Given the description of an element on the screen output the (x, y) to click on. 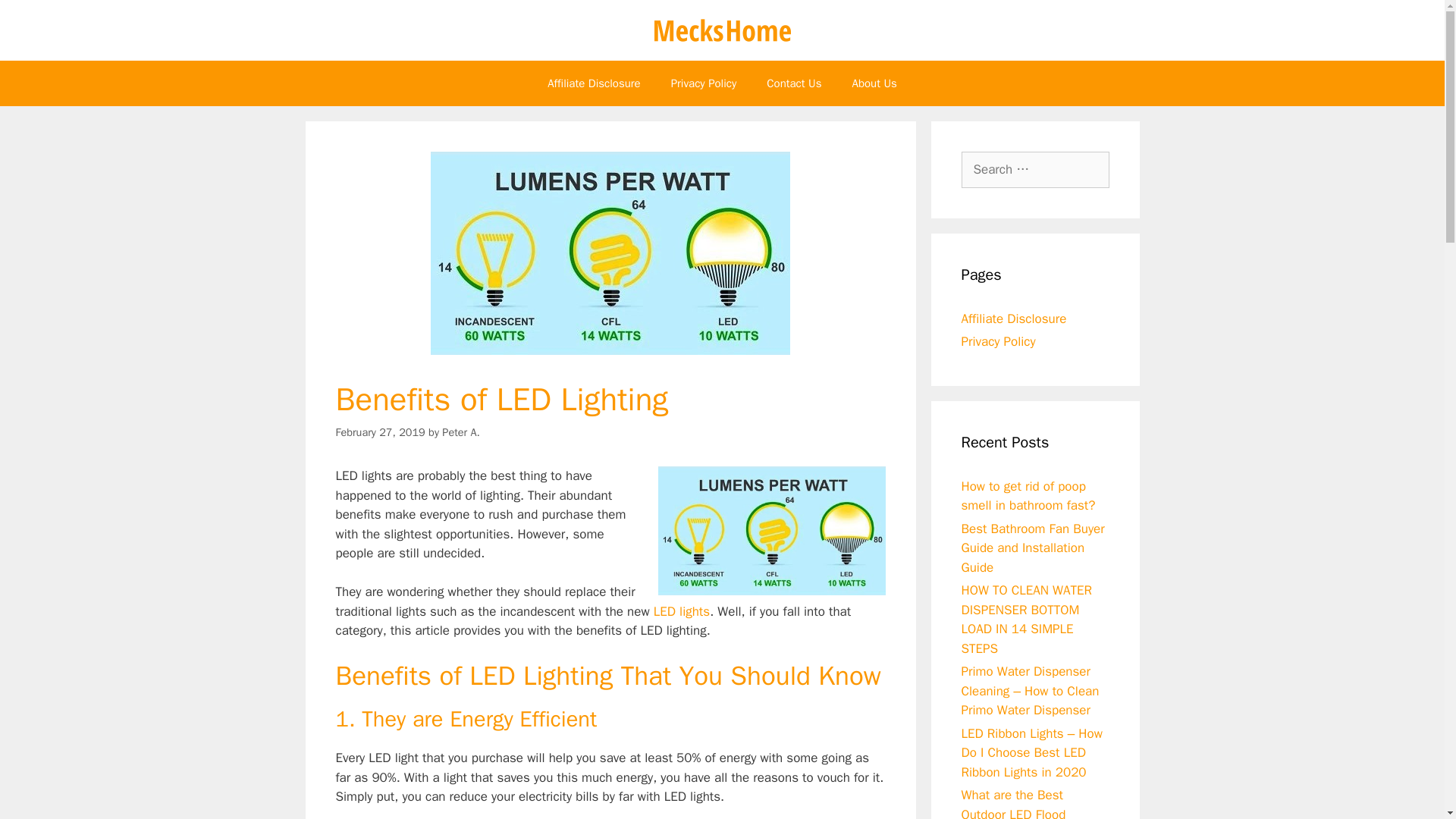
Best Bathroom Fan Buyer Guide and Installation Guide (1032, 547)
What are the Best Outdoor LED Flood Lights? (1012, 803)
Privacy Policy (704, 83)
LED lights (681, 611)
How to get rid of poop smell in bathroom fast? (1028, 495)
Search (35, 18)
Affiliate Disclosure (594, 83)
Privacy Policy (997, 341)
Search for: (1034, 169)
Peter A. (461, 431)
